Given the description of an element on the screen output the (x, y) to click on. 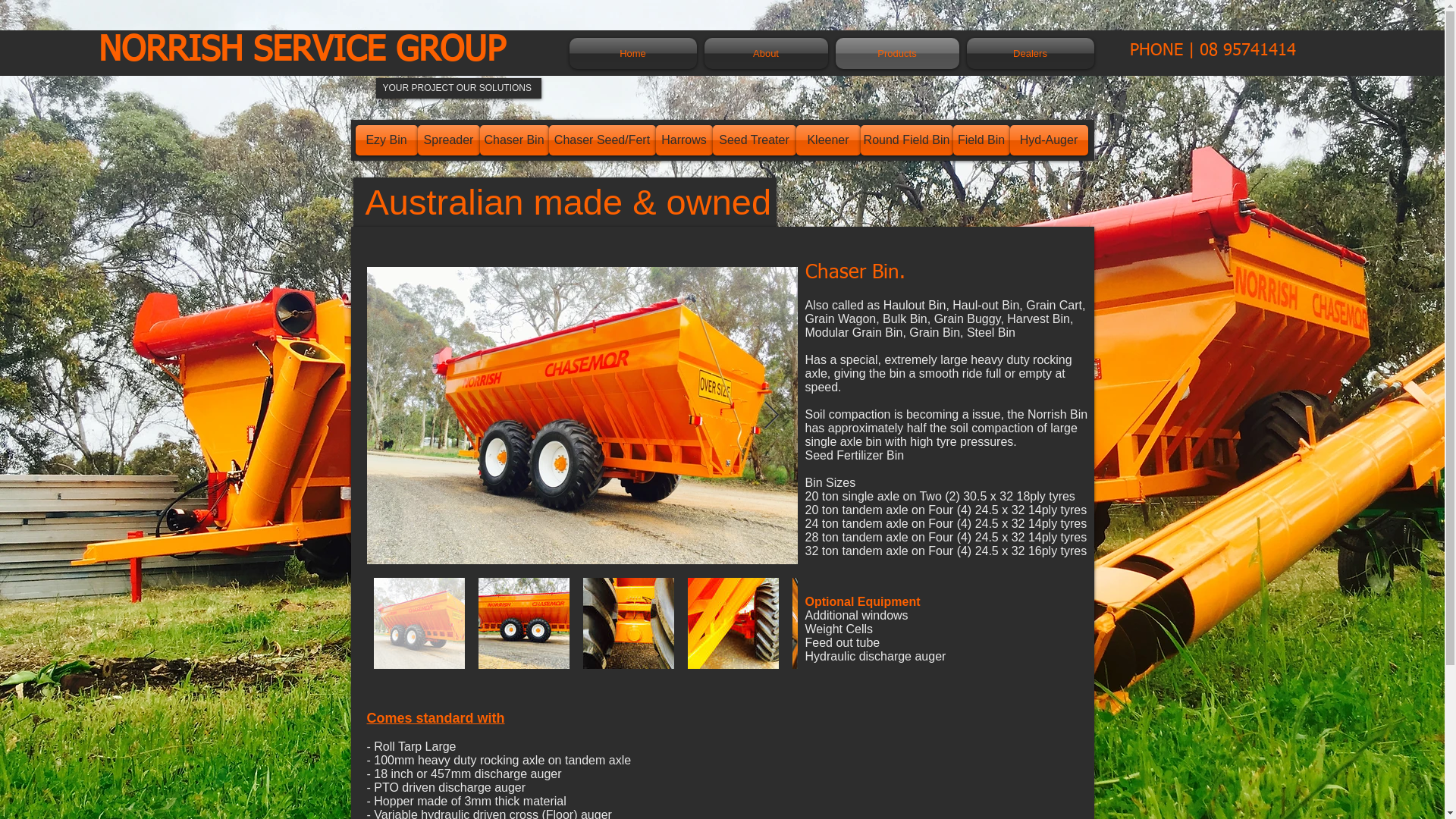
Seed Treater Element type: text (754, 140)
Spreader Element type: text (448, 140)
Products Element type: text (896, 53)
Chaser Seed/Fert Element type: text (602, 140)
Kleener Element type: text (828, 140)
Chaser Bin Element type: text (513, 140)
Hyd-Auger Element type: text (1049, 140)
Harrows Element type: text (683, 140)
Dealers Element type: text (1028, 53)
Ezy Bin Element type: text (385, 140)
PHONE | 08 95741414 Element type: text (1212, 50)
Field Bin Element type: text (980, 140)
About Element type: text (765, 53)
Round Field Bin Element type: text (905, 140)
Home Element type: text (633, 53)
